Given the description of an element on the screen output the (x, y) to click on. 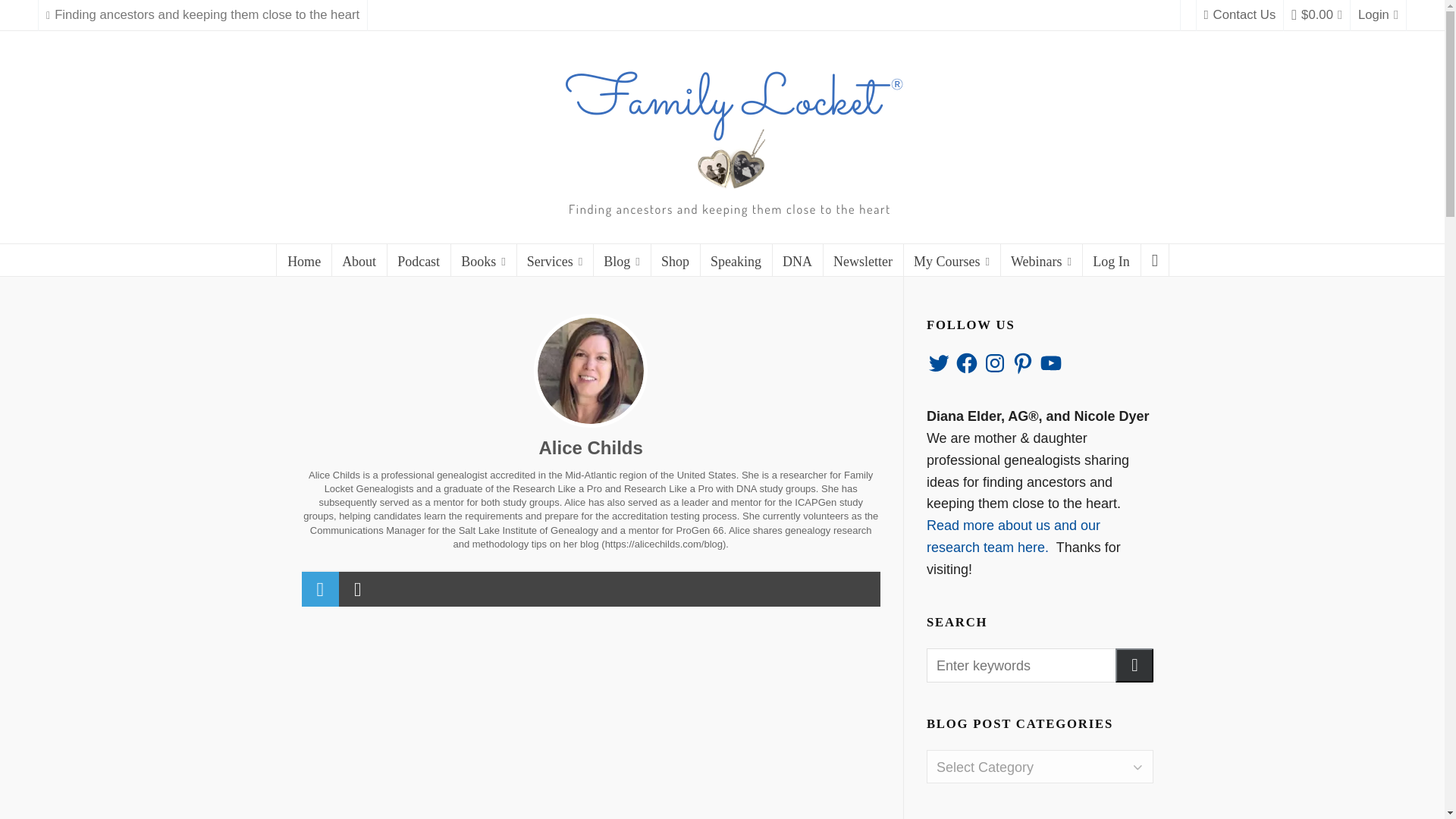
Alice Childs (590, 447)
Alice Childs (590, 370)
